Given the description of an element on the screen output the (x, y) to click on. 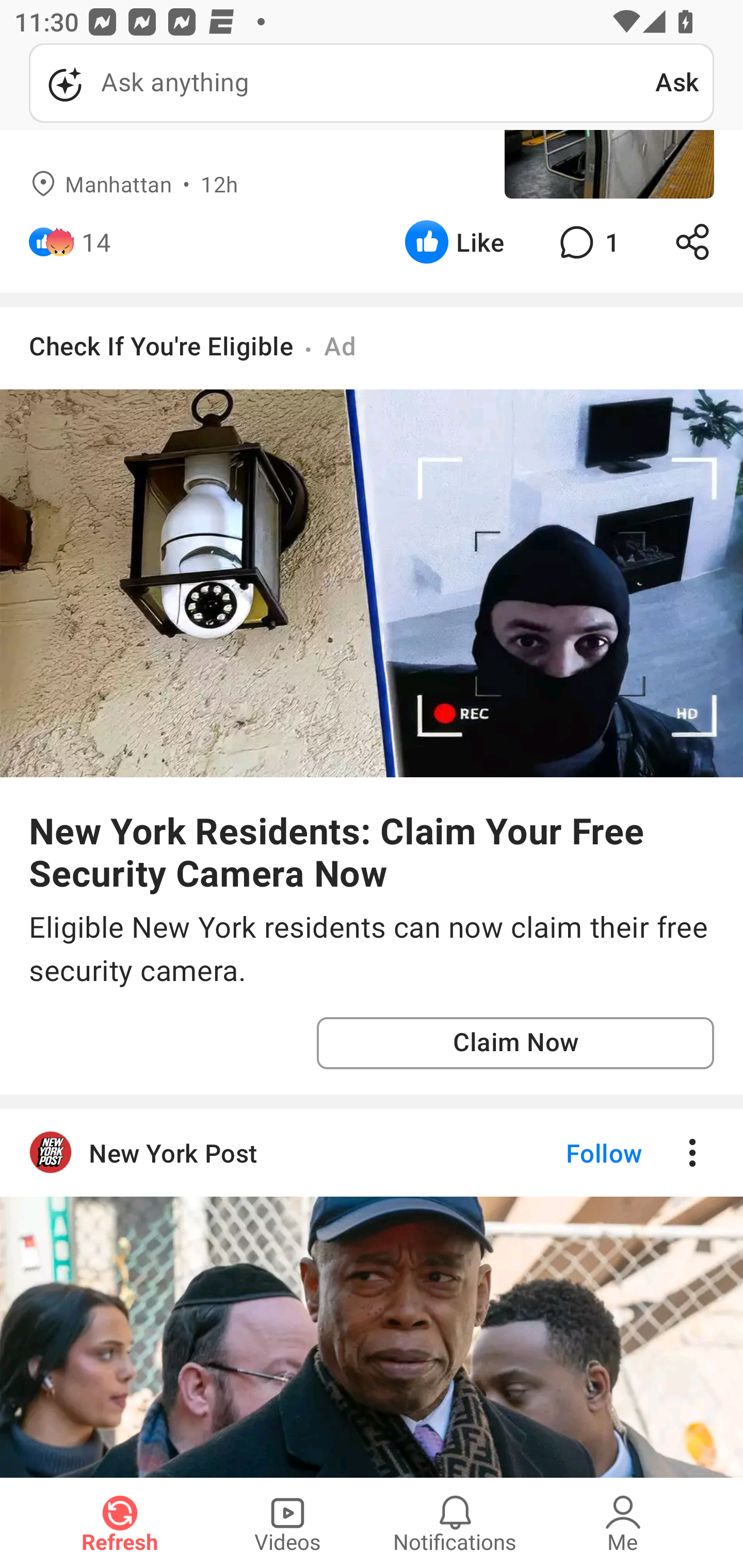
Ask anything (341, 82)
14 (95, 242)
Like (454, 242)
1 (587, 242)
Check If You're Eligible (160, 345)
Claim Now (515, 1043)
New York Post Follow (371, 1292)
New York Post Follow (371, 1152)
Follow (569, 1152)
Videos (287, 1522)
Notifications (455, 1522)
Me (622, 1522)
